Given the description of an element on the screen output the (x, y) to click on. 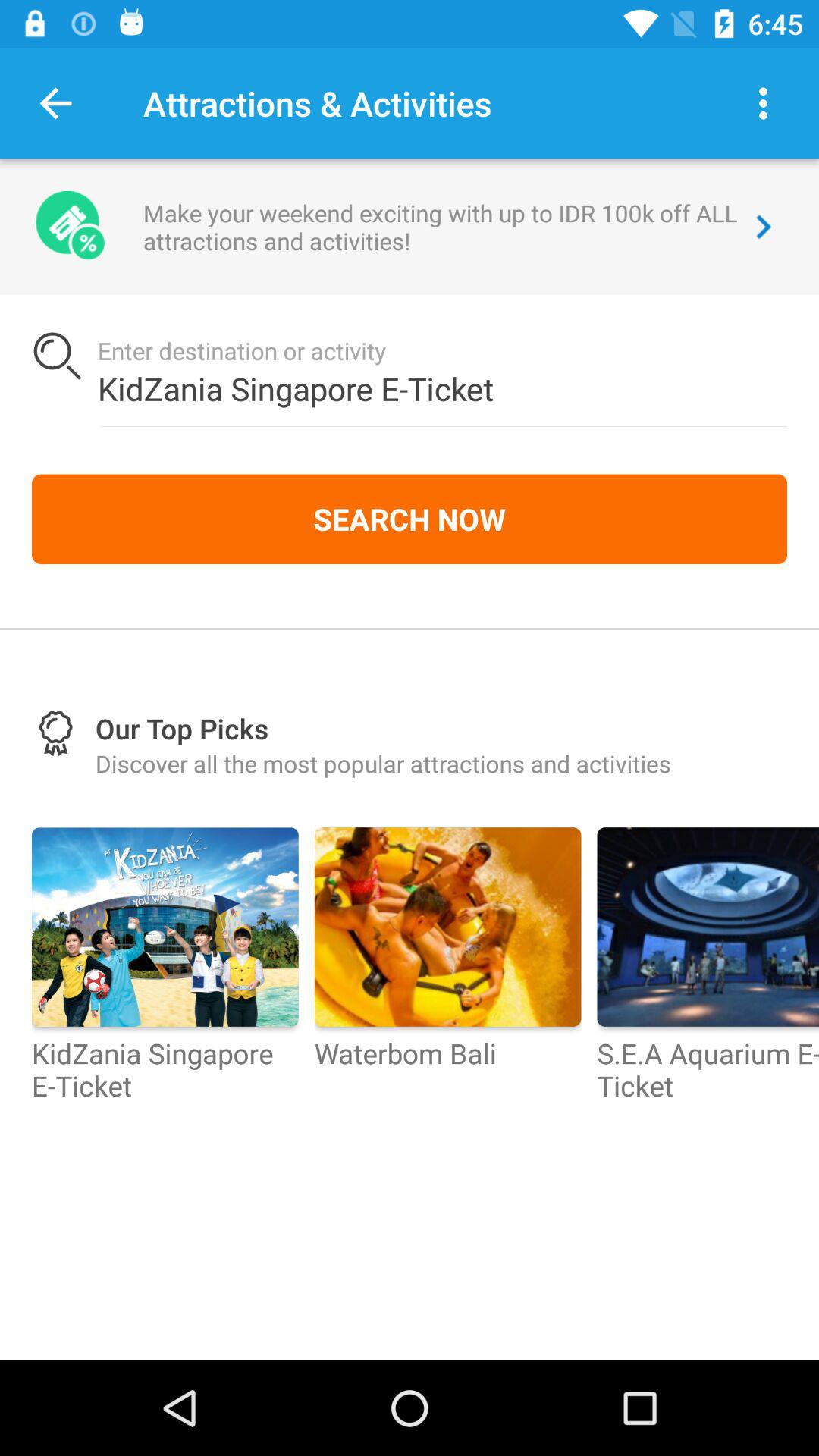
go back (55, 103)
